Given the description of an element on the screen output the (x, y) to click on. 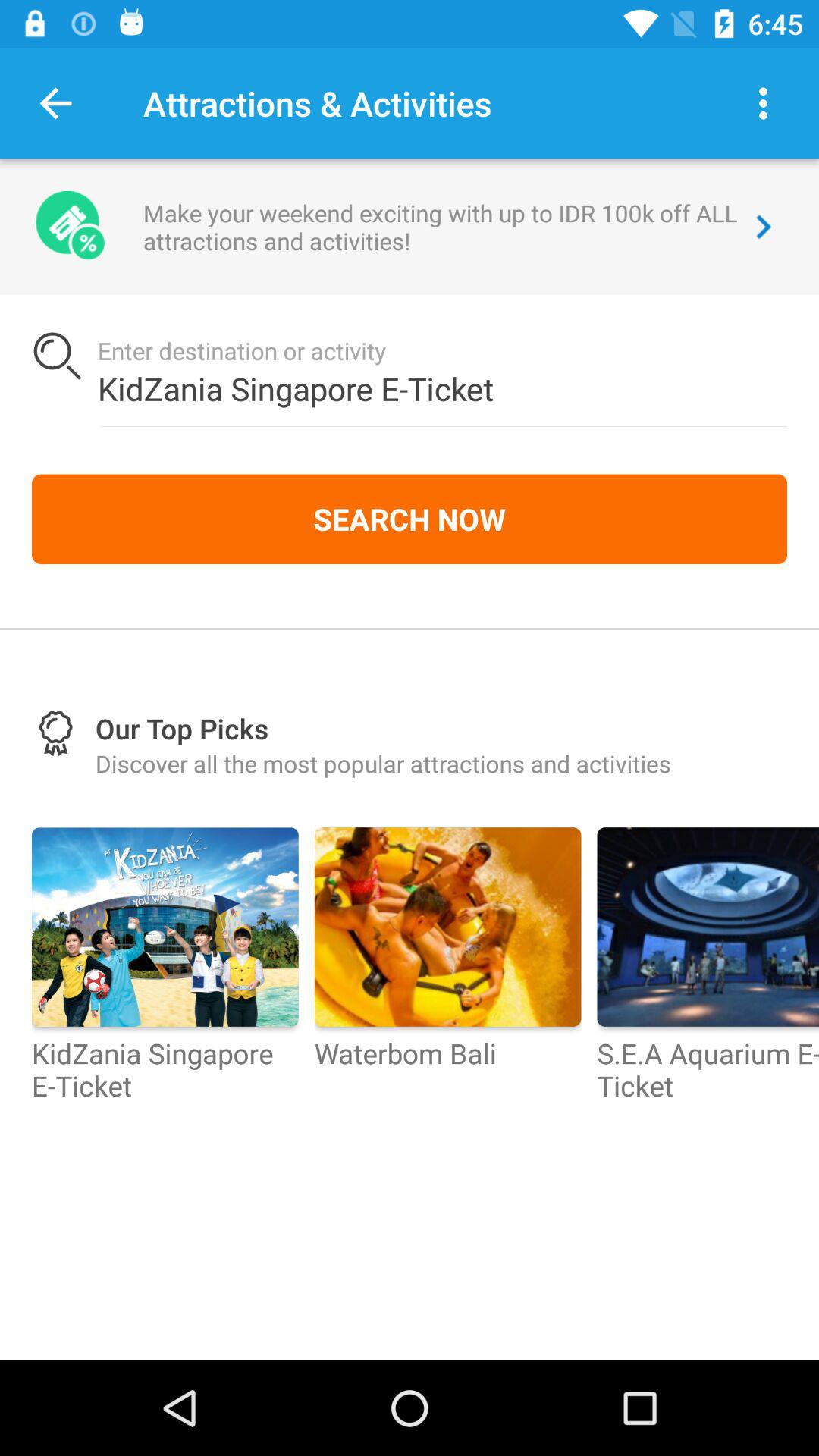
go back (55, 103)
